Given the description of an element on the screen output the (x, y) to click on. 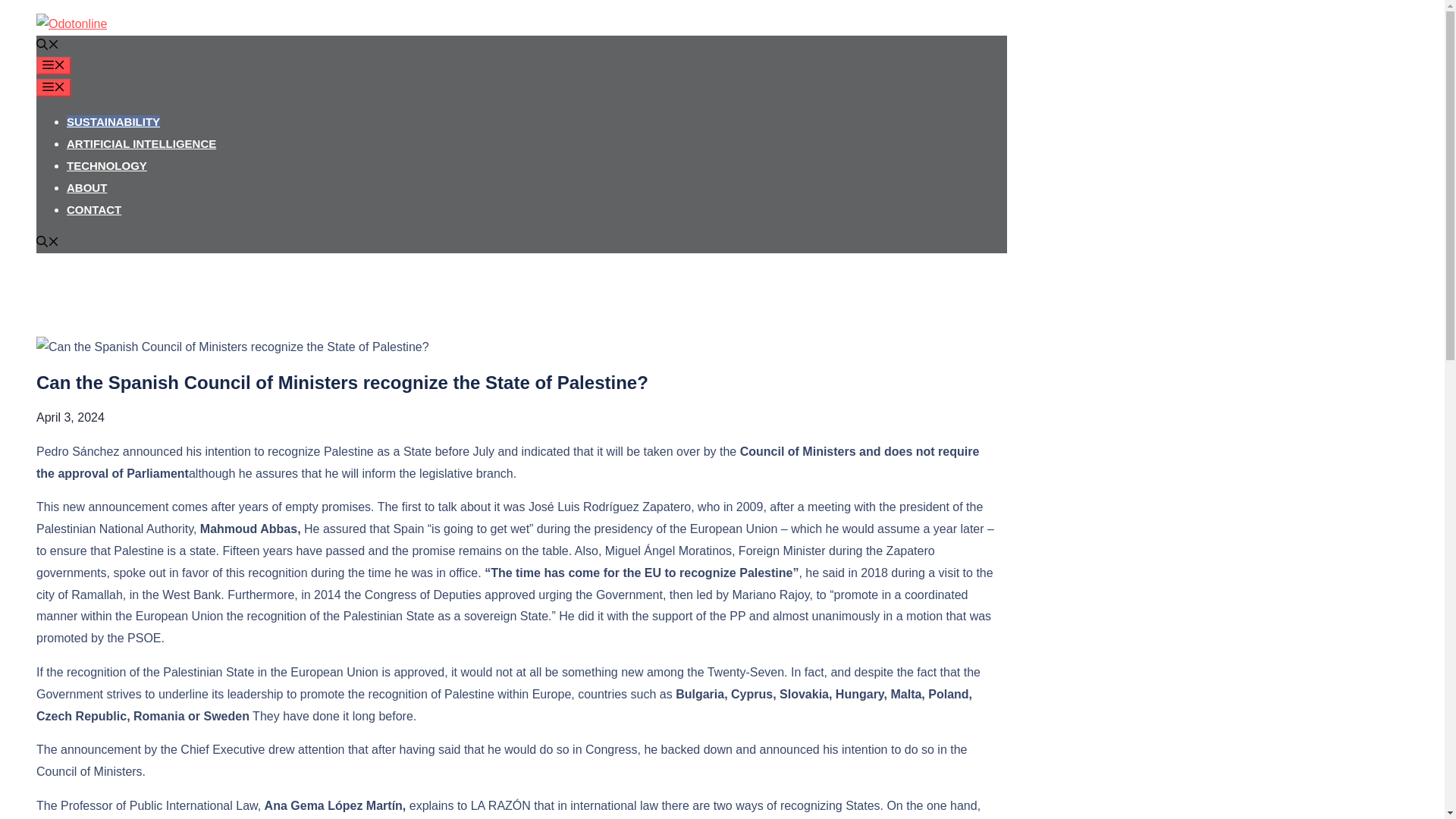
ARTIFICIAL INTELLIGENCE (140, 143)
MENU (53, 87)
CONTACT (93, 209)
SUSTAINABILITY (113, 121)
ABOUT (86, 187)
TECHNOLOGY (106, 164)
MENU (53, 65)
